Given the description of an element on the screen output the (x, y) to click on. 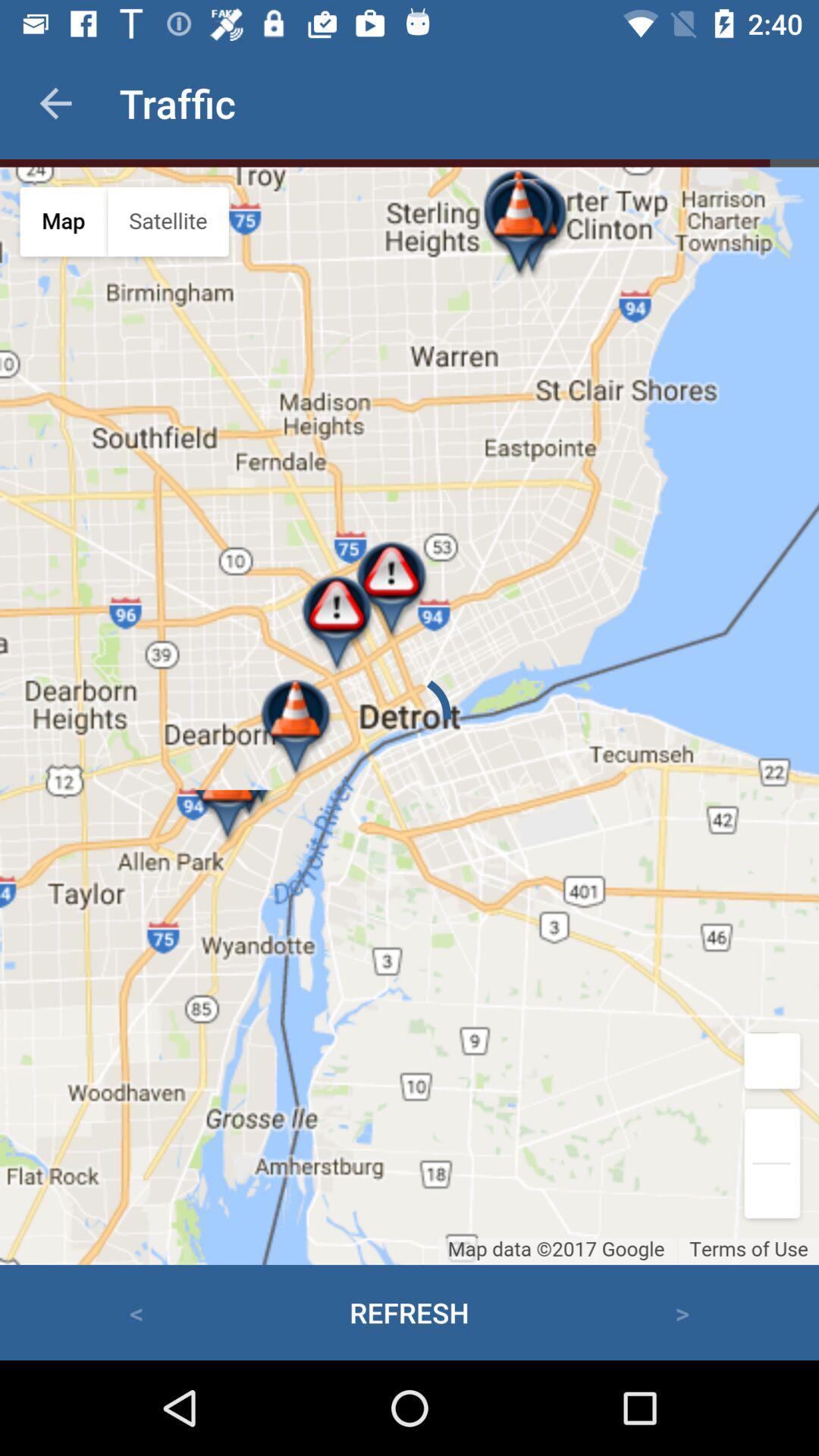
refresh map (409, 715)
